Given the description of an element on the screen output the (x, y) to click on. 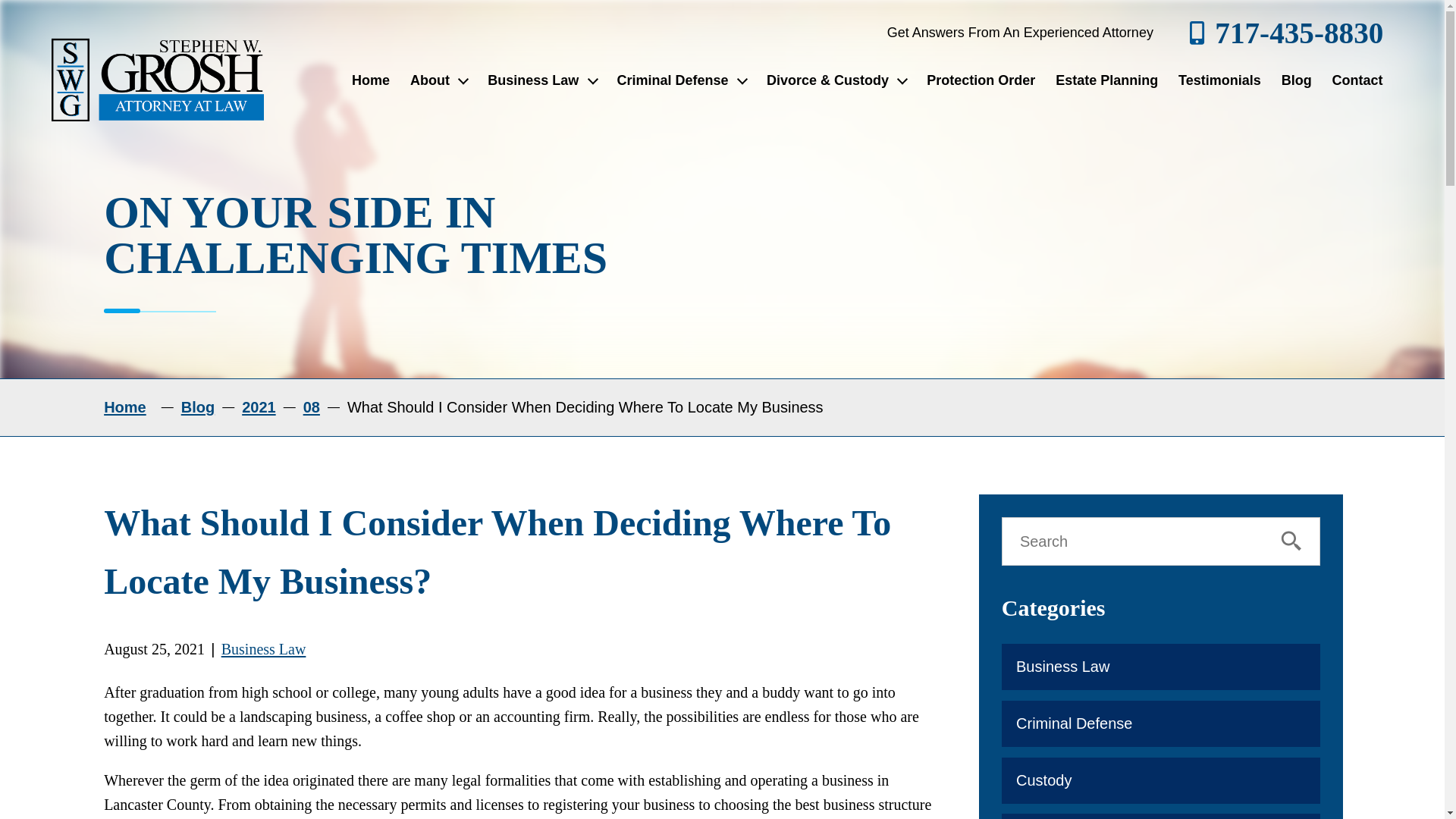
Criminal Defense (681, 81)
Protection Order (981, 81)
Testimonials (1220, 81)
717-435-8830 (1286, 32)
Estate Planning (1107, 81)
search (1293, 541)
Business Law (542, 81)
Contact (1357, 81)
About (437, 81)
